Given the description of an element on the screen output the (x, y) to click on. 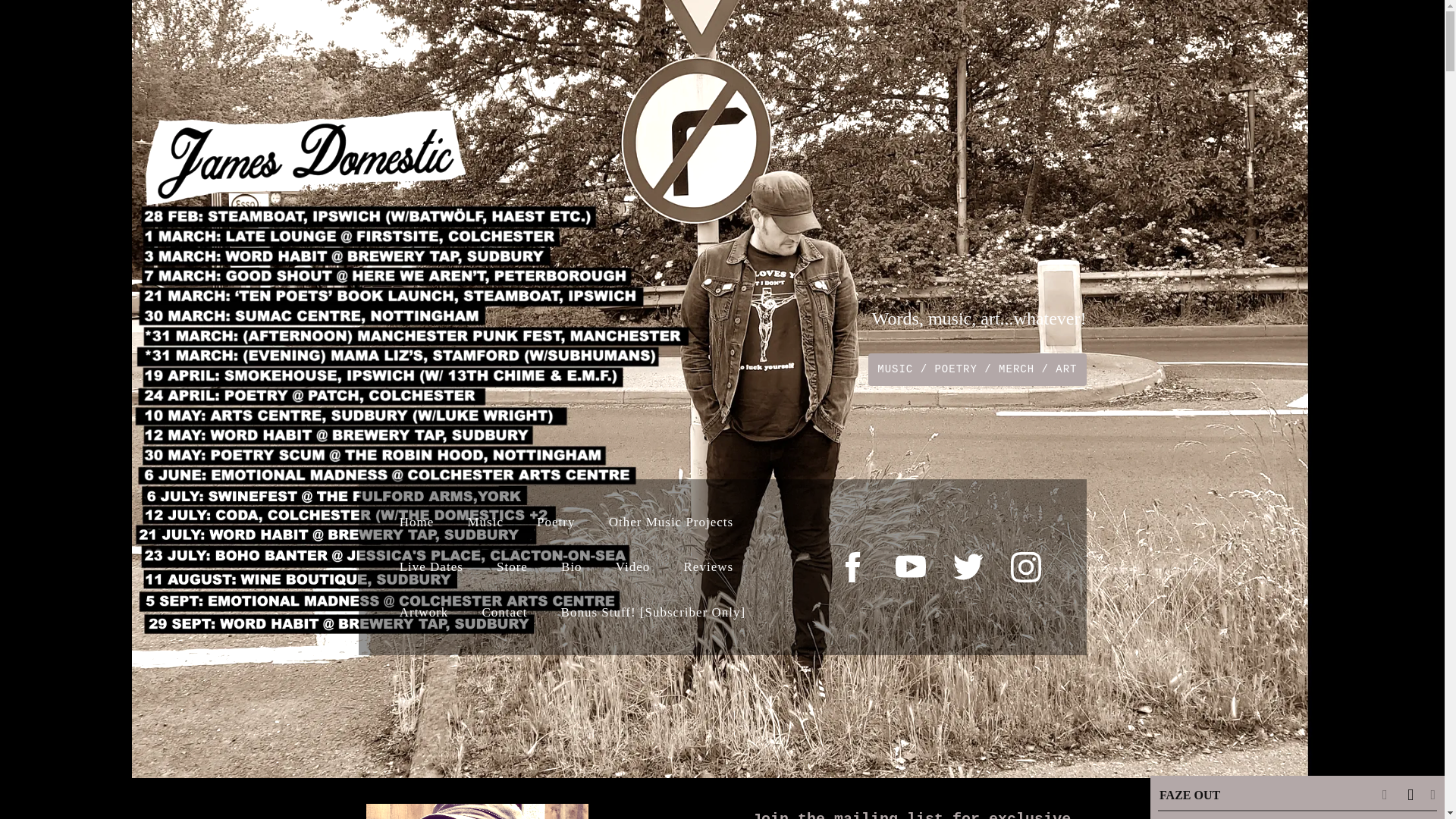
Home (417, 521)
Music (486, 521)
Other Music Projects (670, 521)
Poetry (555, 521)
